Given the description of an element on the screen output the (x, y) to click on. 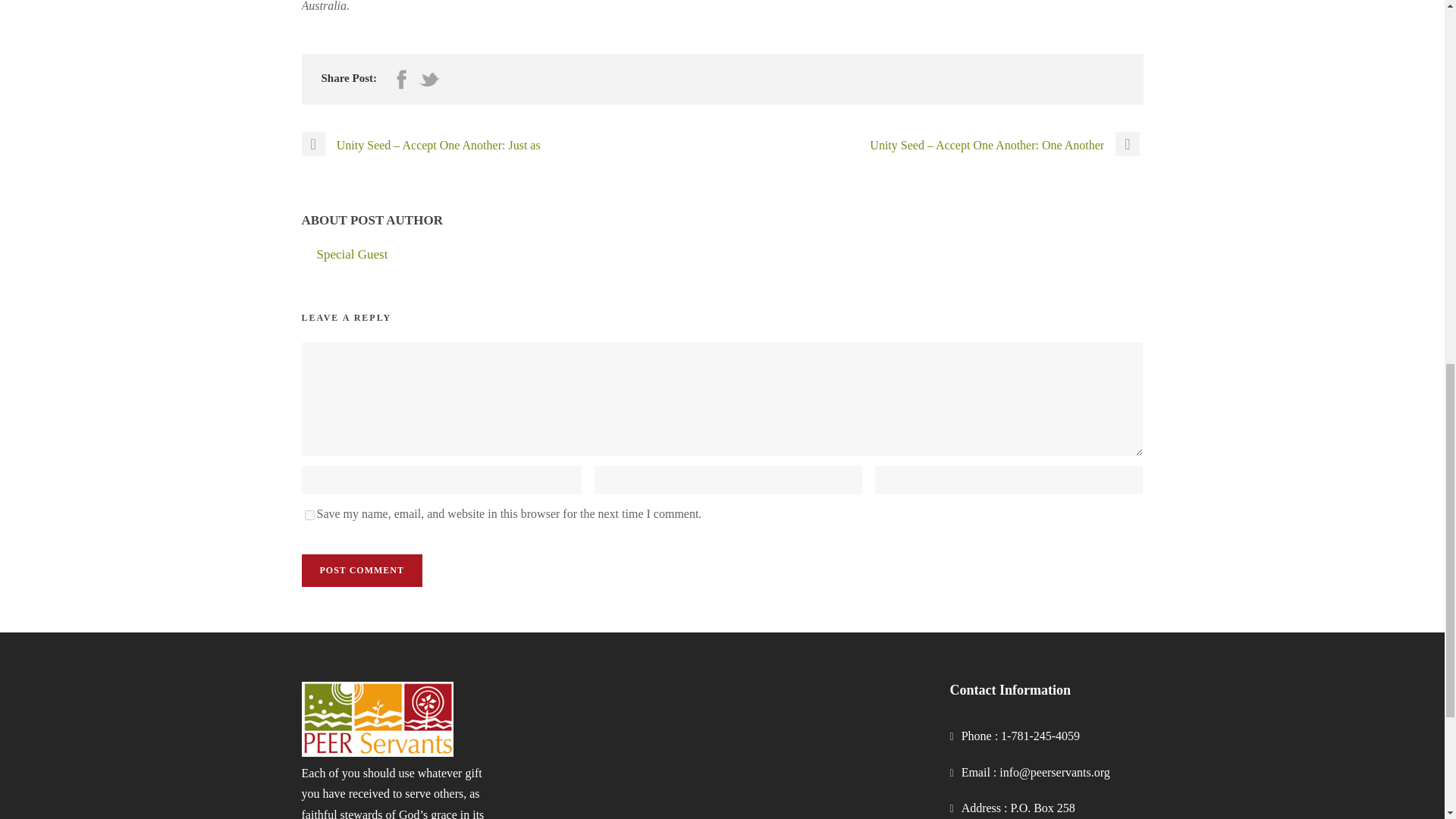
Posts by Special Guest (352, 254)
yes (309, 515)
Post Comment (361, 570)
